Given the description of an element on the screen output the (x, y) to click on. 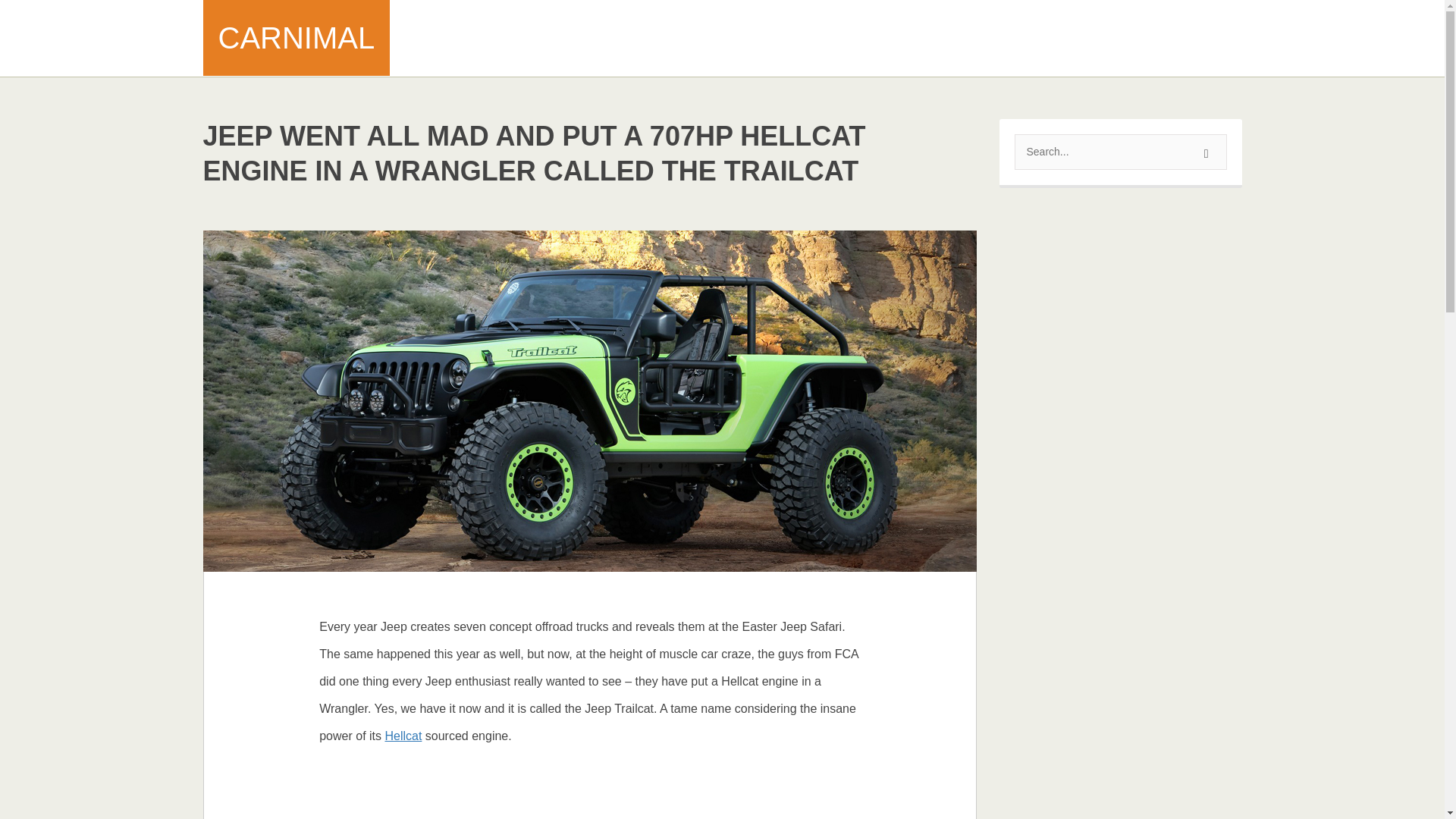
Hellcat (403, 735)
CARNIMAL (296, 37)
Jeep Trailcat Roar (589, 805)
Advertisement (964, 38)
